Given the description of an element on the screen output the (x, y) to click on. 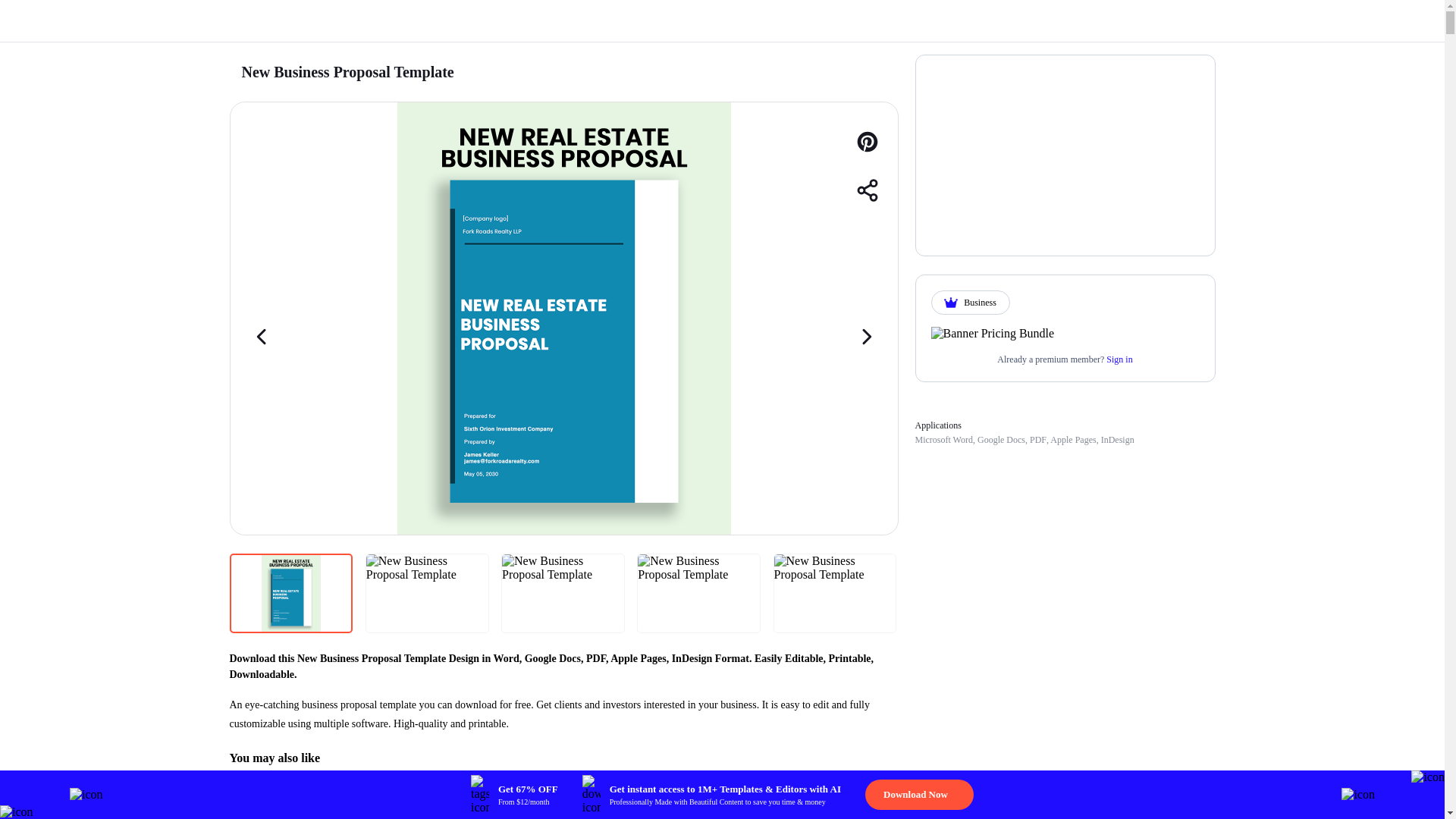
, Google Docs (998, 439)
, Apple Pages (1071, 439)
Banner Pricing Bundle (992, 333)
Microsoft Word (943, 439)
, PDF (1035, 439)
, InDesign (1115, 439)
